Given the description of an element on the screen output the (x, y) to click on. 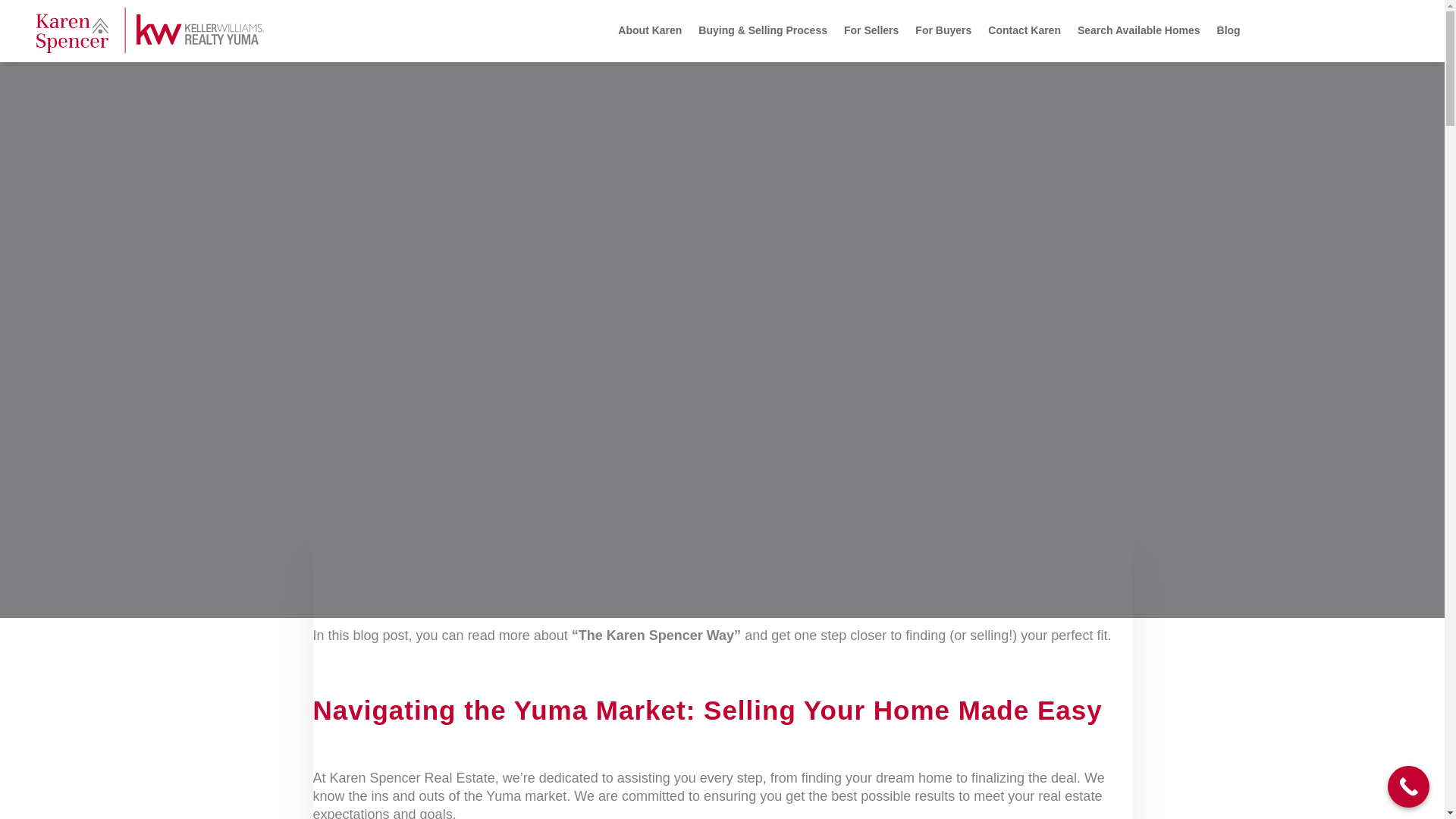
For Sellers (871, 29)
Contact Karen (1024, 29)
For Buyers (943, 29)
About Karen (649, 29)
Search Available Homes (1138, 29)
